Given the description of an element on the screen output the (x, y) to click on. 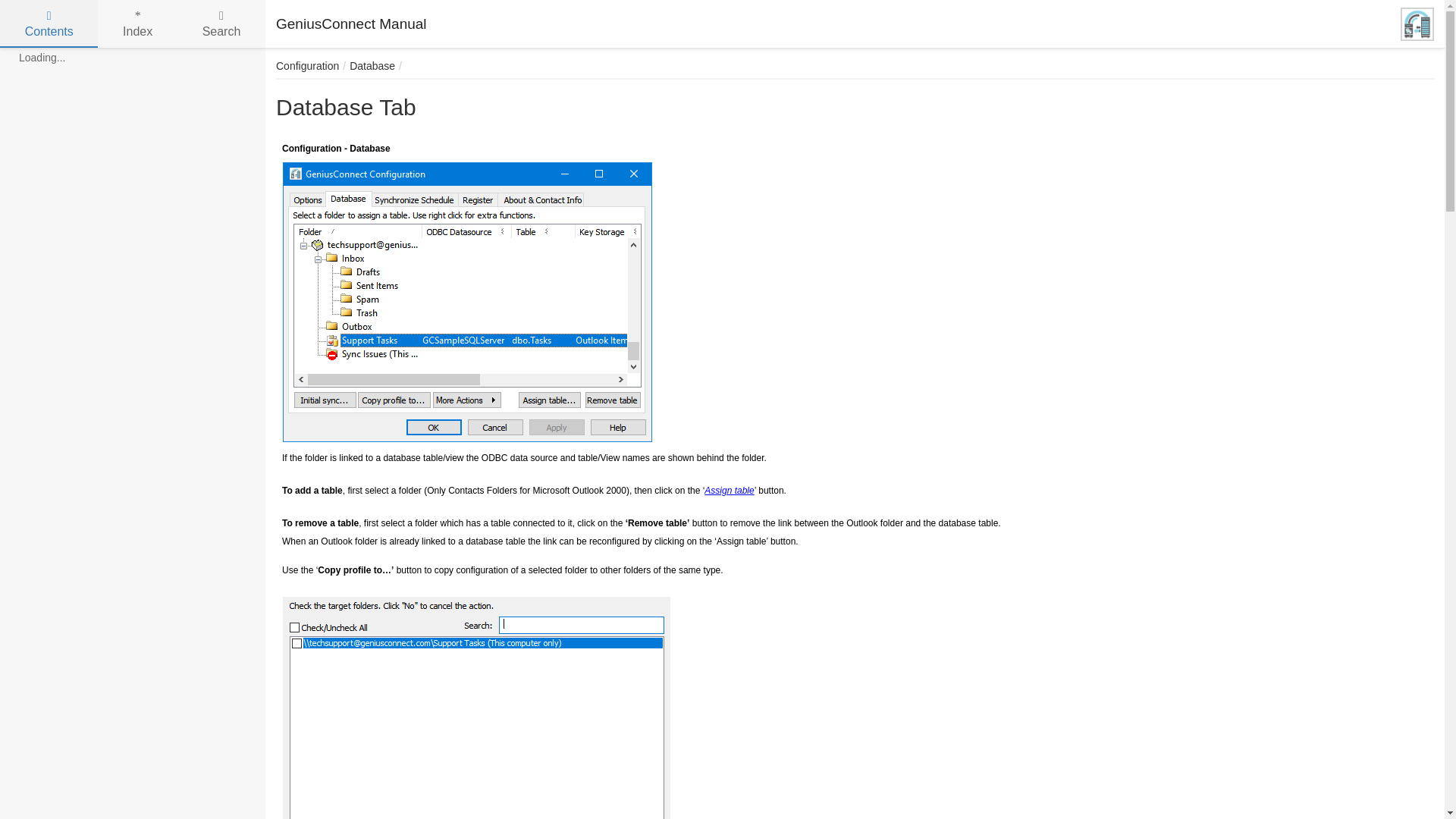
Contents (48, 23)
Loading... (42, 57)
Assign table (729, 490)
Index (137, 23)
Search (220, 23)
